Given the description of an element on the screen output the (x, y) to click on. 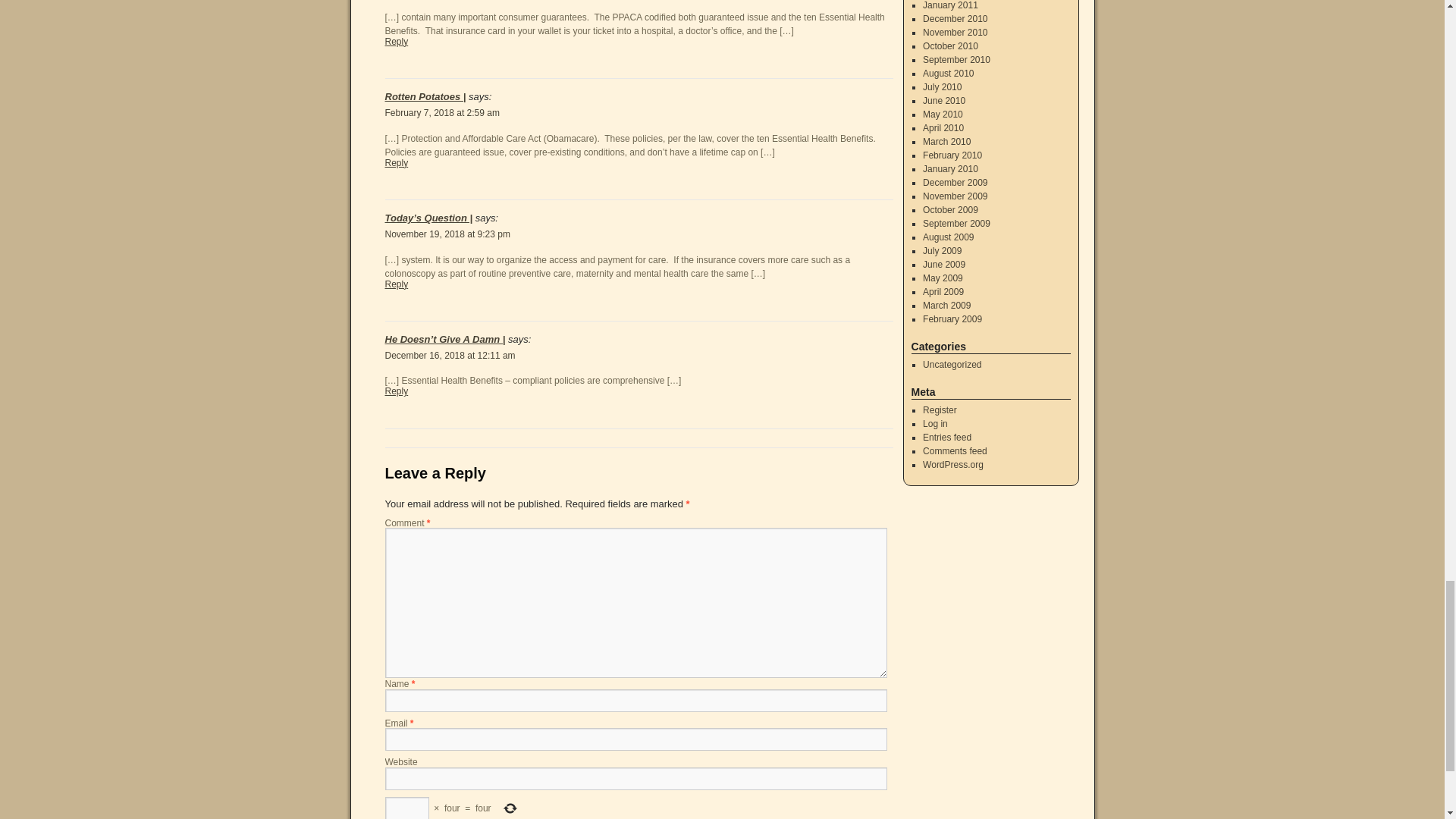
Reply (397, 163)
November 19, 2018 at 9:23 pm (448, 234)
Reply (397, 41)
February 7, 2018 at 2:59 am (442, 112)
